Given the description of an element on the screen output the (x, y) to click on. 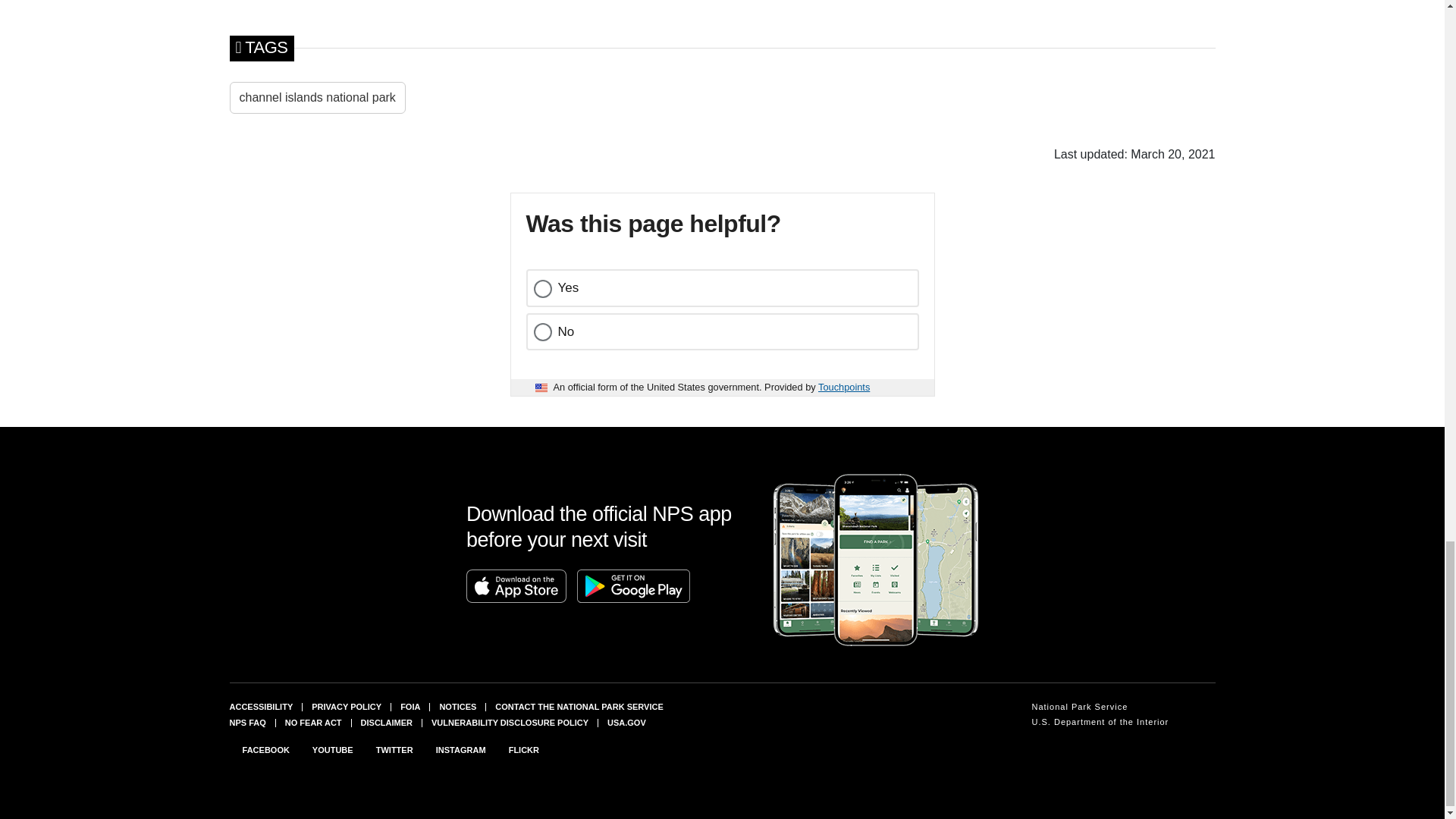
National Park Service frequently asked questions (246, 722)
